Given the description of an element on the screen output the (x, y) to click on. 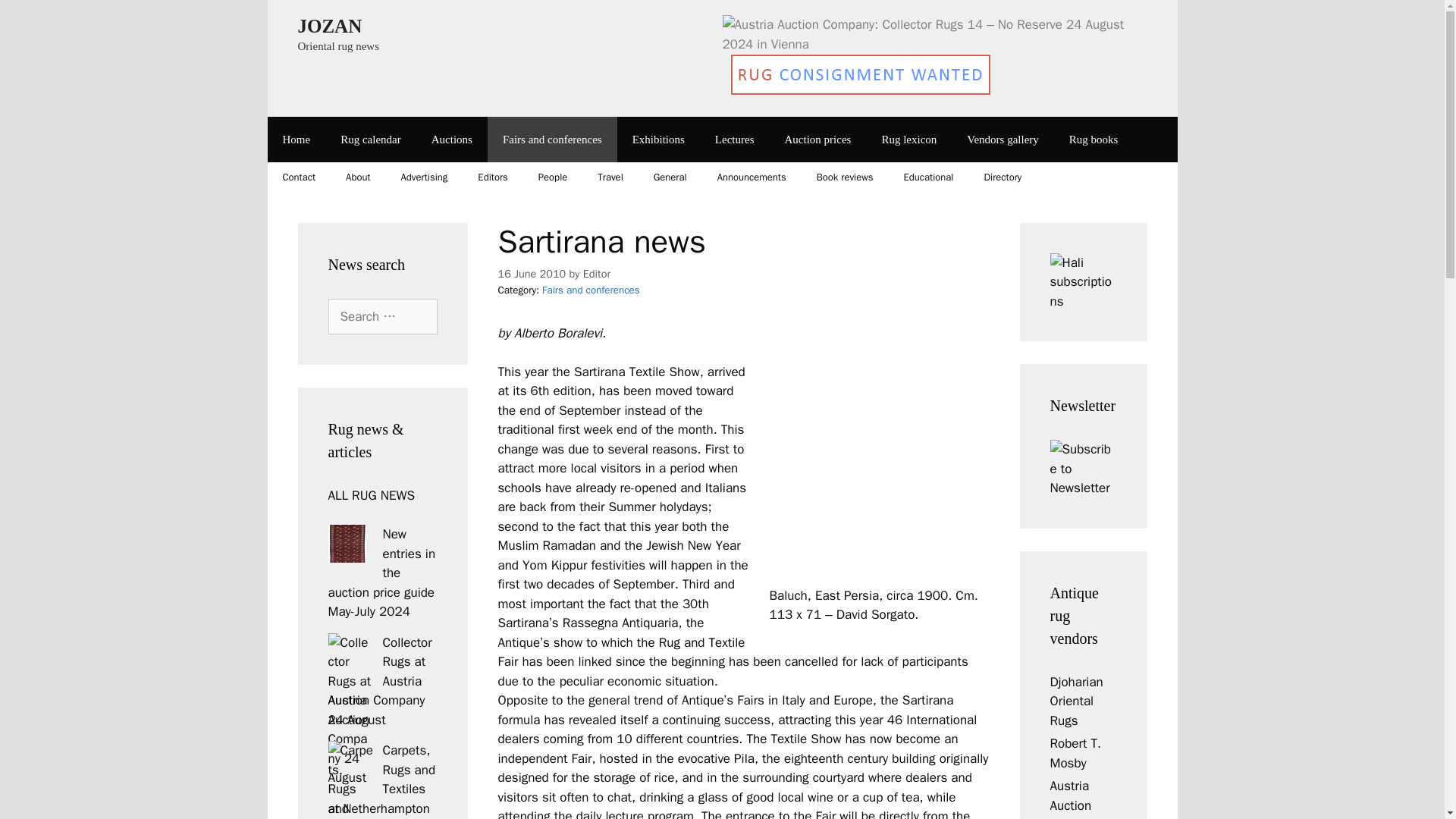
International rug and carpet auctions (451, 139)
Book reviews (845, 177)
Announcements (751, 177)
Homepage (295, 139)
Travel (610, 177)
Home (295, 139)
About Jozan Magazine (357, 177)
General (670, 177)
About (357, 177)
Rug calendar (370, 139)
Nazmiyal Auctions: Consignment (860, 91)
Contact (298, 177)
Exhibitions (658, 139)
Rug lexicon (909, 139)
Rug and textile exhibitions (658, 139)
